Given the description of an element on the screen output the (x, y) to click on. 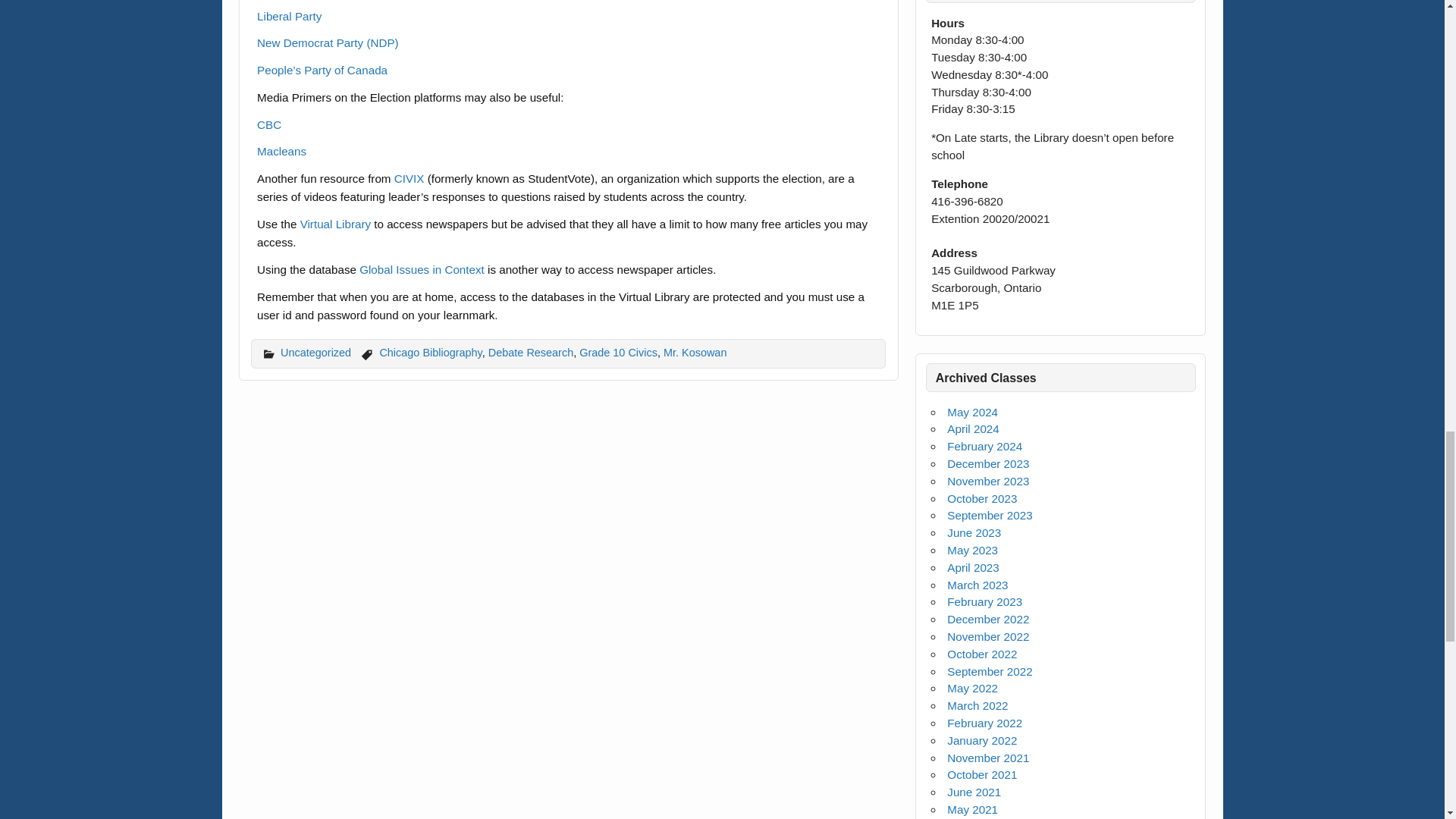
Chicago Bibliography (429, 352)
CBC (269, 124)
Mr. Kosowan (694, 352)
Debate Research (530, 352)
Liberal Party (289, 15)
Macleans (281, 151)
Grade 10 Civics (618, 352)
Global Issues in Context (421, 269)
CIVIX (411, 178)
Virtual Library (336, 223)
Uncategorized (315, 352)
